Given the description of an element on the screen output the (x, y) to click on. 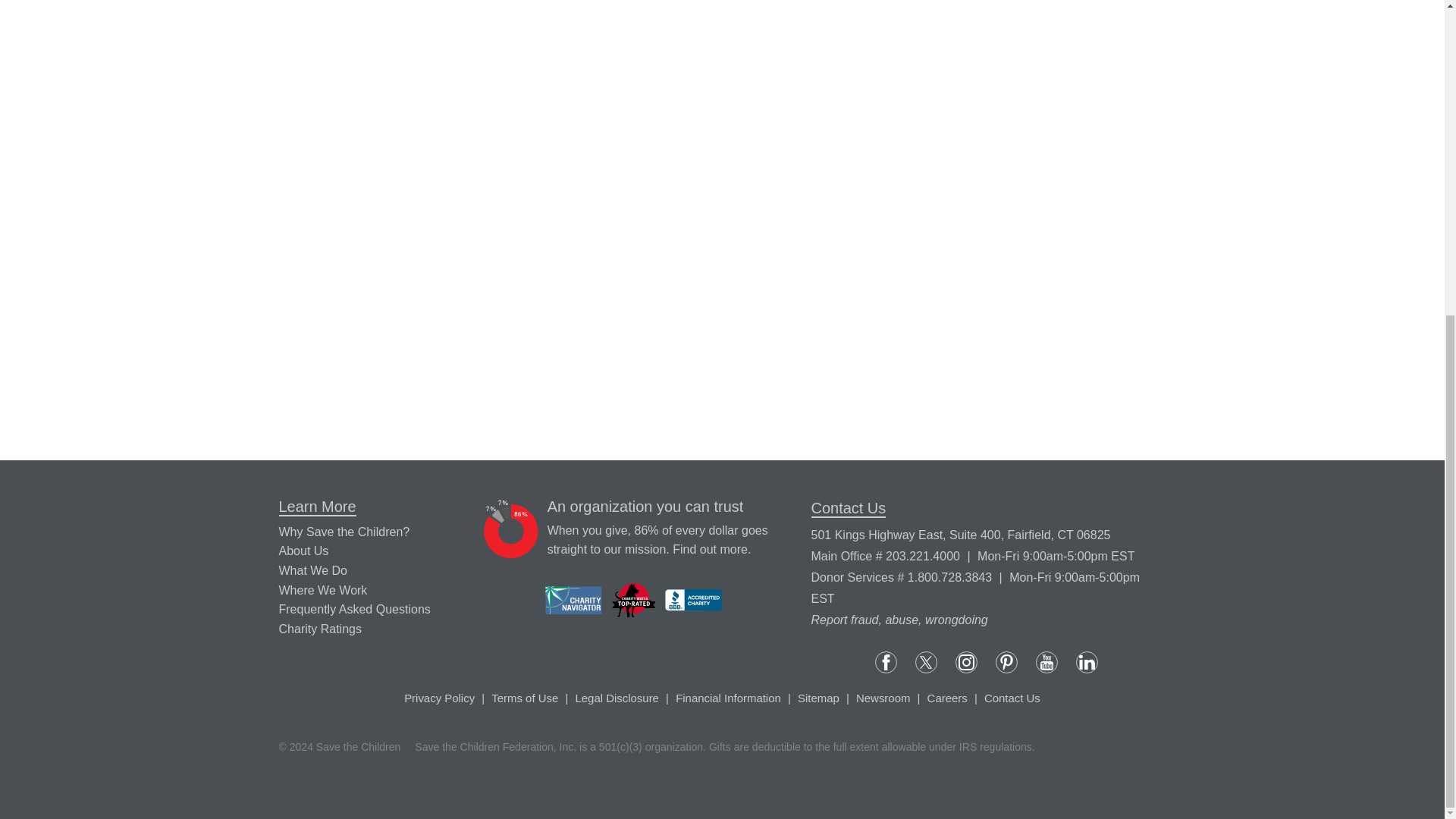
Facebook (885, 662)
Twitter (926, 662)
Pinterest (1006, 662)
LinkedIn (1086, 662)
Instagram (965, 662)
Financial Information (710, 549)
Charity Navigator (573, 600)
YouTube (1046, 662)
Better Business Bureau (693, 599)
Charity Watch (633, 600)
